Given the description of an element on the screen output the (x, y) to click on. 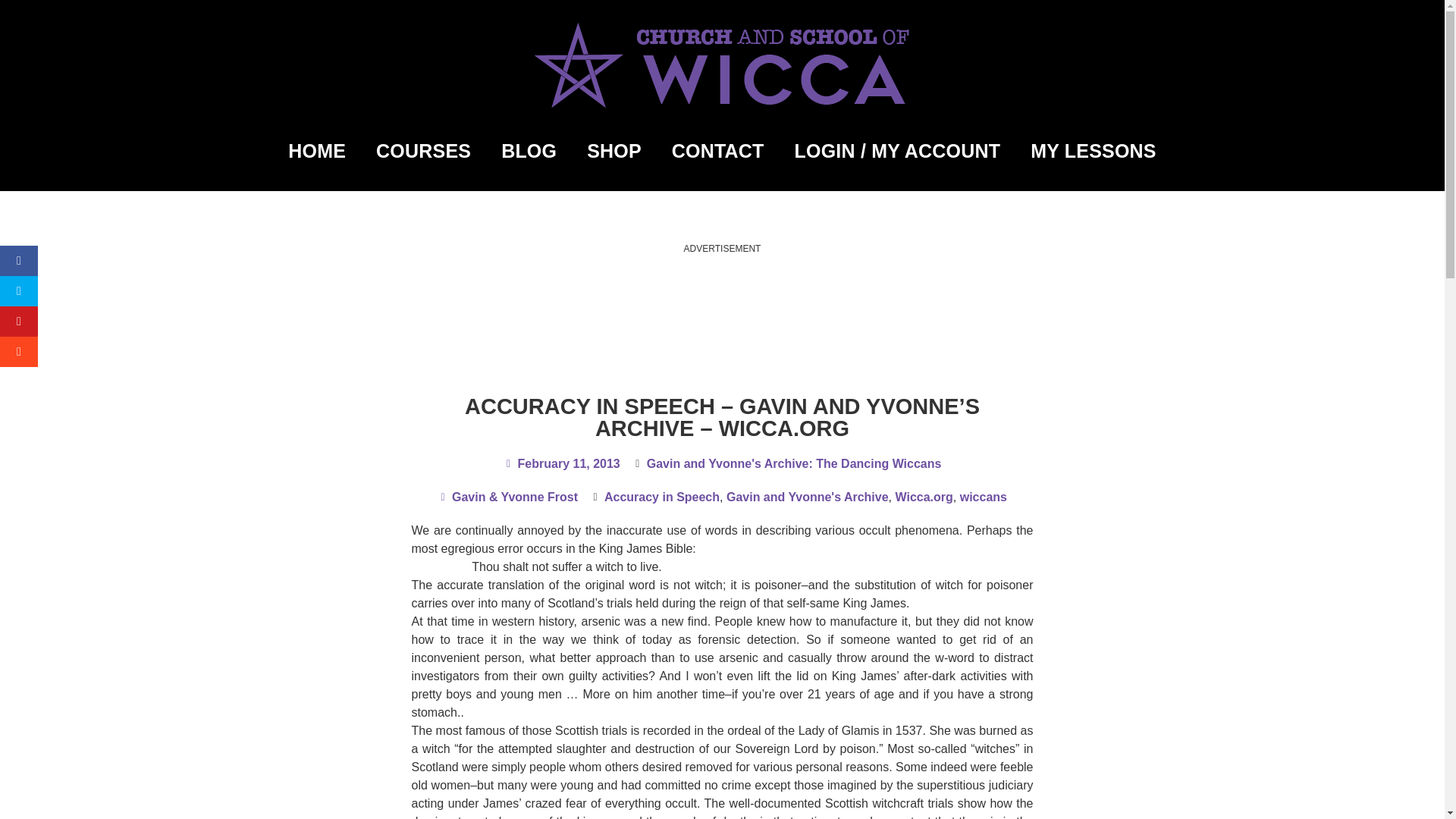
COURSES (423, 150)
CONTACT (717, 150)
Wicca.org (923, 496)
February 11, 2013 (561, 464)
MY LESSONS (1092, 150)
Gavin and Yvonne's Archive: The Dancing Wiccans (794, 463)
SHOP (614, 150)
wiccans (983, 496)
BLOG (529, 150)
Gavin and Yvonne's Archive (807, 496)
